Given the description of an element on the screen output the (x, y) to click on. 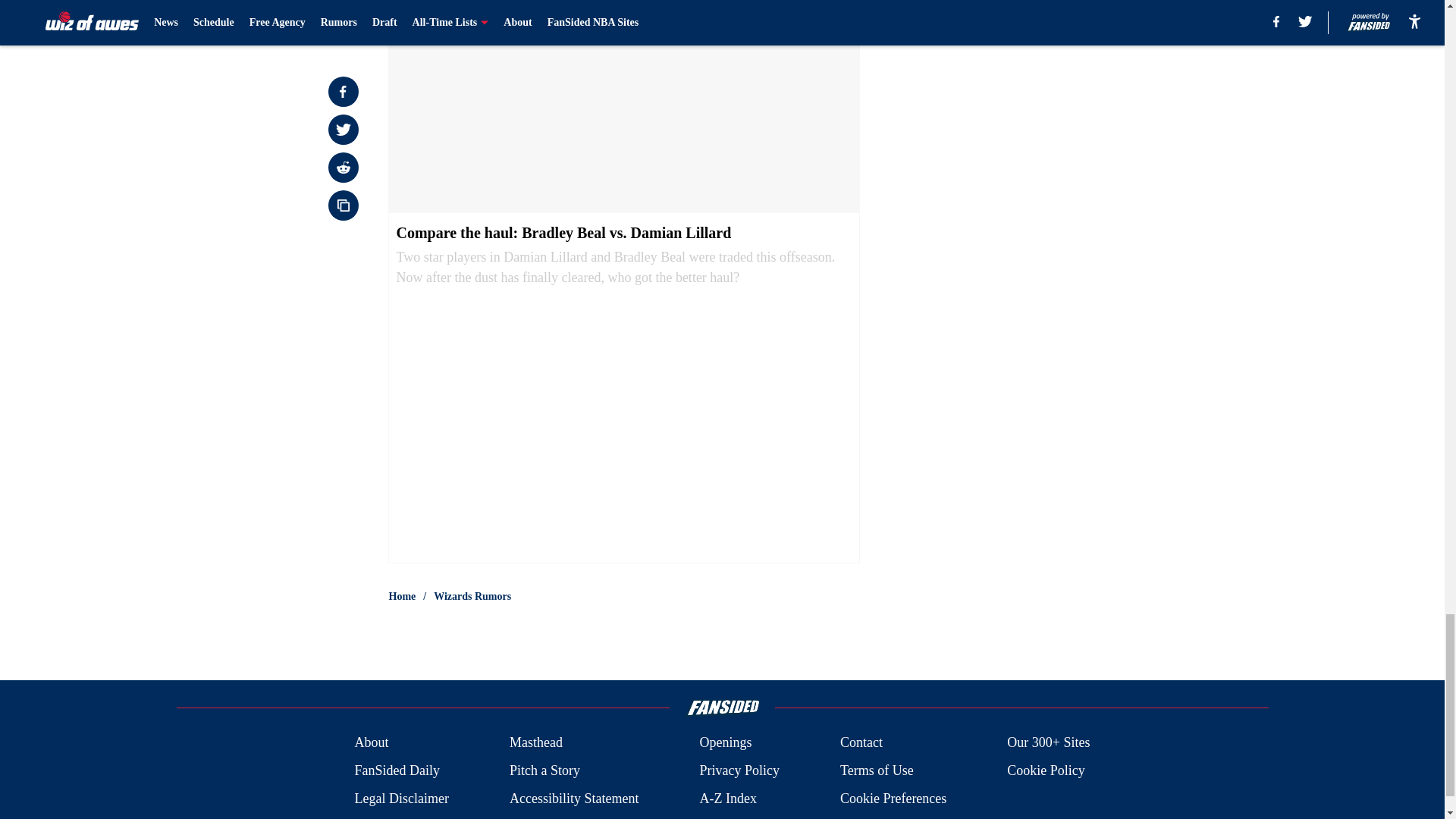
FanSided Daily (396, 770)
Contact (861, 742)
About (370, 742)
Openings (724, 742)
Home (401, 596)
Pitch a Story (544, 770)
Masthead (535, 742)
Wizards Rumors (472, 596)
